Given the description of an element on the screen output the (x, y) to click on. 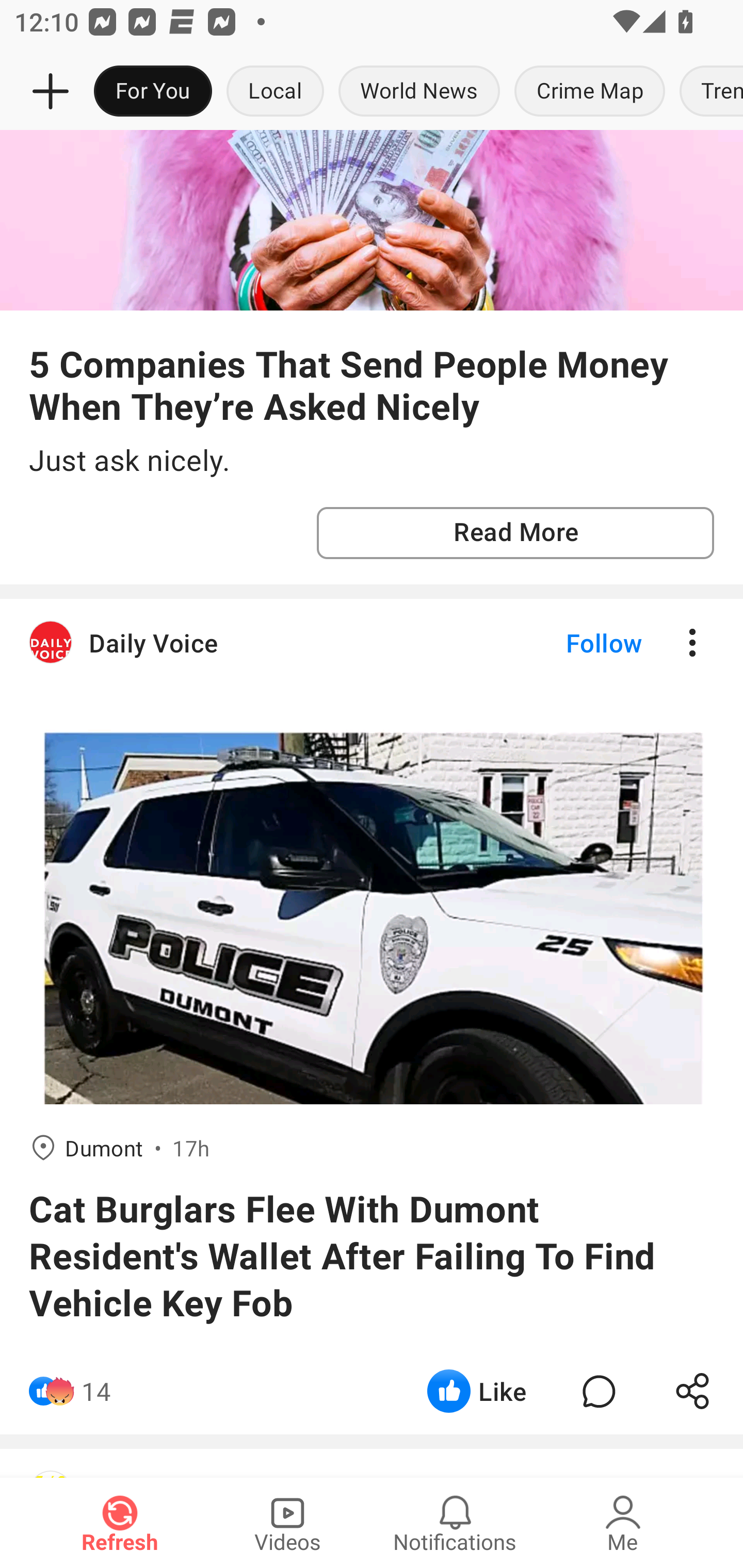
For You (152, 91)
Local (275, 91)
World News (419, 91)
Crime Map (589, 91)
Just ask nicely. (371, 460)
Read More (515, 532)
Daily Voice Follow (371, 642)
Follow (569, 642)
14 (95, 1391)
Like (476, 1391)
Videos (287, 1522)
Notifications (455, 1522)
Me (622, 1522)
